Given the description of an element on the screen output the (x, y) to click on. 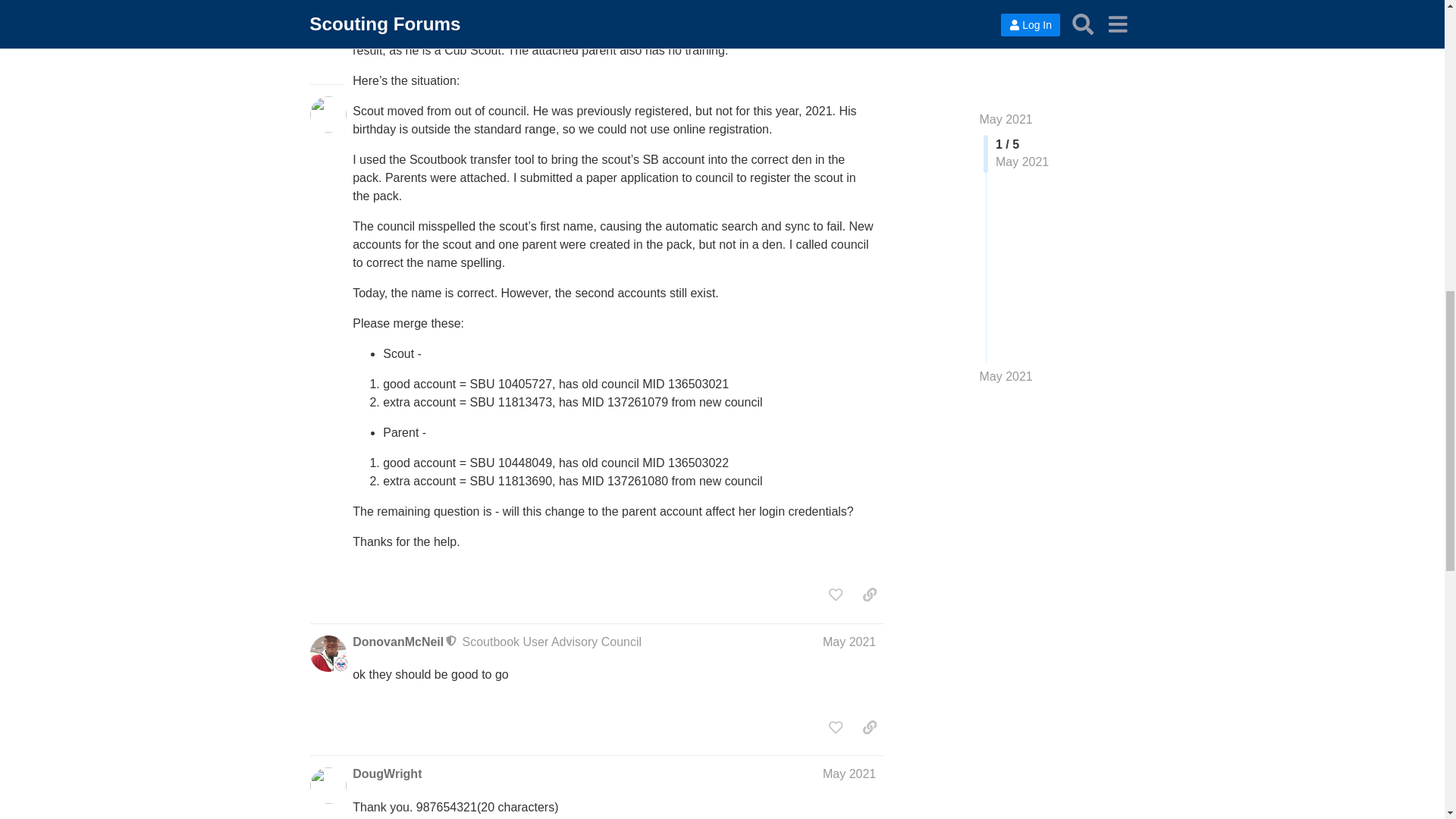
Scoutbook User Advisory Council (552, 641)
May 2021 (849, 641)
DonovanMcNeil (398, 641)
